Given the description of an element on the screen output the (x, y) to click on. 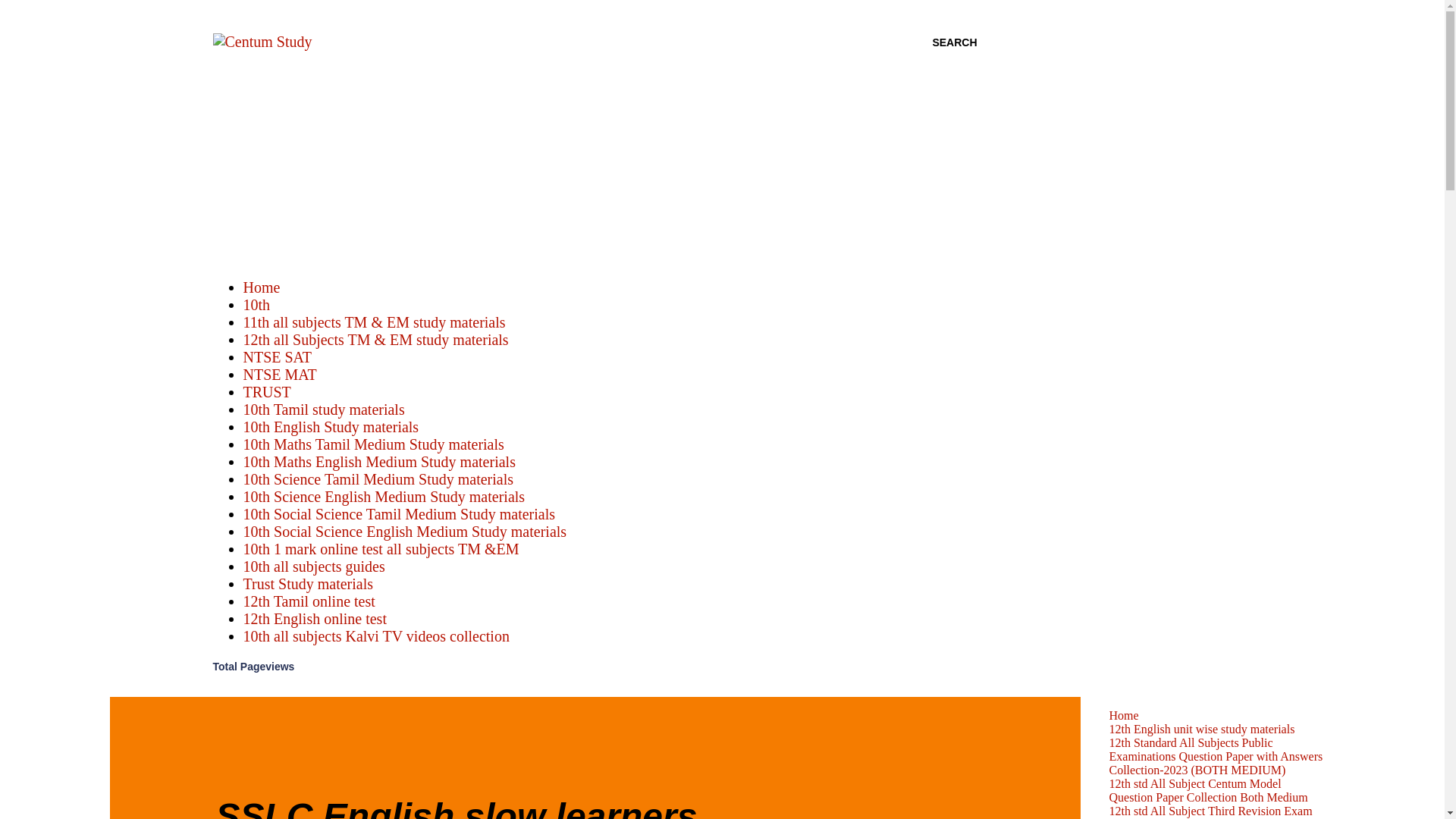
10th all subjects Kalvi TV videos collection (375, 636)
12th English online test (314, 618)
10th Social Science Tamil Medium Study materials (398, 514)
12th Tamil online test (308, 600)
NTSE SAT (277, 356)
10th English Study materials (331, 426)
SEARCH (953, 42)
10th Maths Tamil Medium Study materials (373, 443)
TRUST (266, 392)
Trust Study materials (307, 583)
10th Science Tamil Medium Study materials (378, 478)
10th Maths English Medium Study materials (379, 461)
10th Social Science English Medium Study materials (404, 531)
10th (256, 304)
NTSE MAT (279, 374)
